Given the description of an element on the screen output the (x, y) to click on. 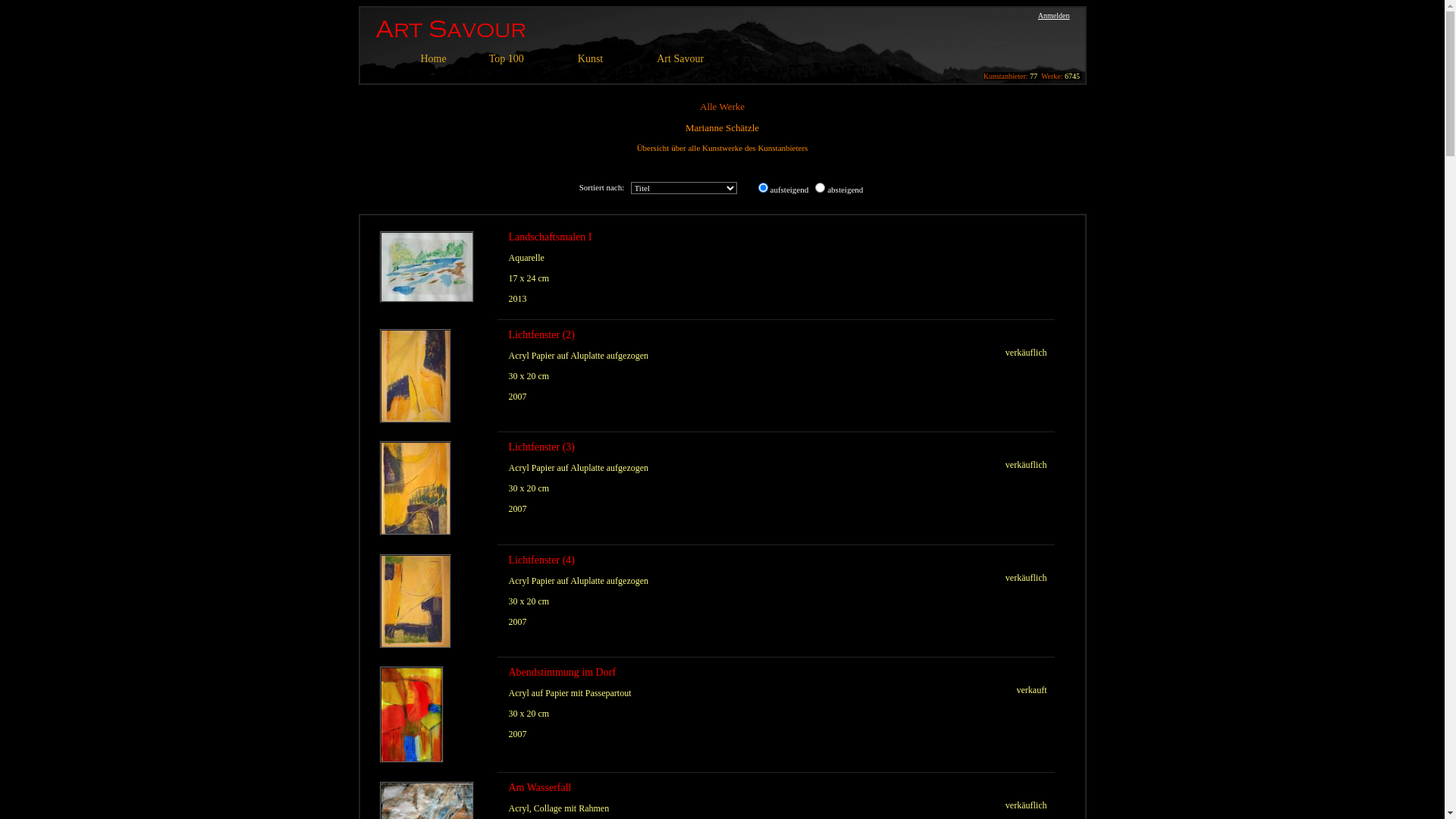
Landschaftsmalen I Element type: text (549, 236)
Lichtfenster (2) Element type: text (541, 334)
Abendstimmung im Dorf Element type: text (561, 671)
Lichtfenster (3) Element type: text (541, 446)
Top 100 Element type: text (506, 58)
Lichtfenster (4) Element type: text (541, 558)
Home Element type: text (432, 58)
Anmelden Element type: text (1054, 15)
Am Wasserfall Element type: text (539, 786)
absteigend Element type: text (820, 187)
Art Savour Element type: text (679, 58)
Kunst Element type: text (589, 58)
